Given the description of an element on the screen output the (x, y) to click on. 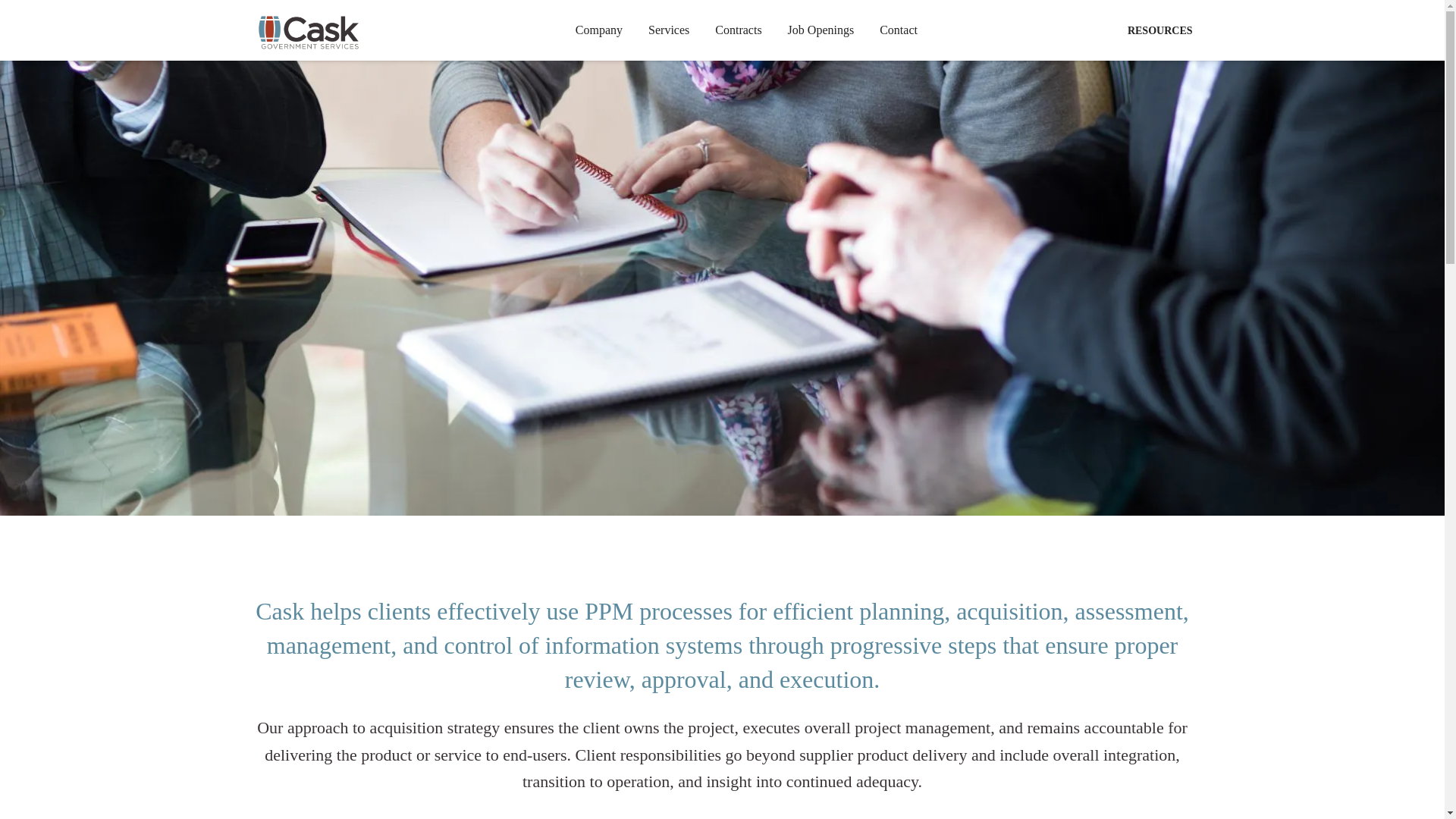
Contracts (737, 30)
Services (667, 30)
Contact (898, 30)
Company (598, 30)
Job Openings (820, 30)
RESOURCES (1159, 30)
